Given the description of an element on the screen output the (x, y) to click on. 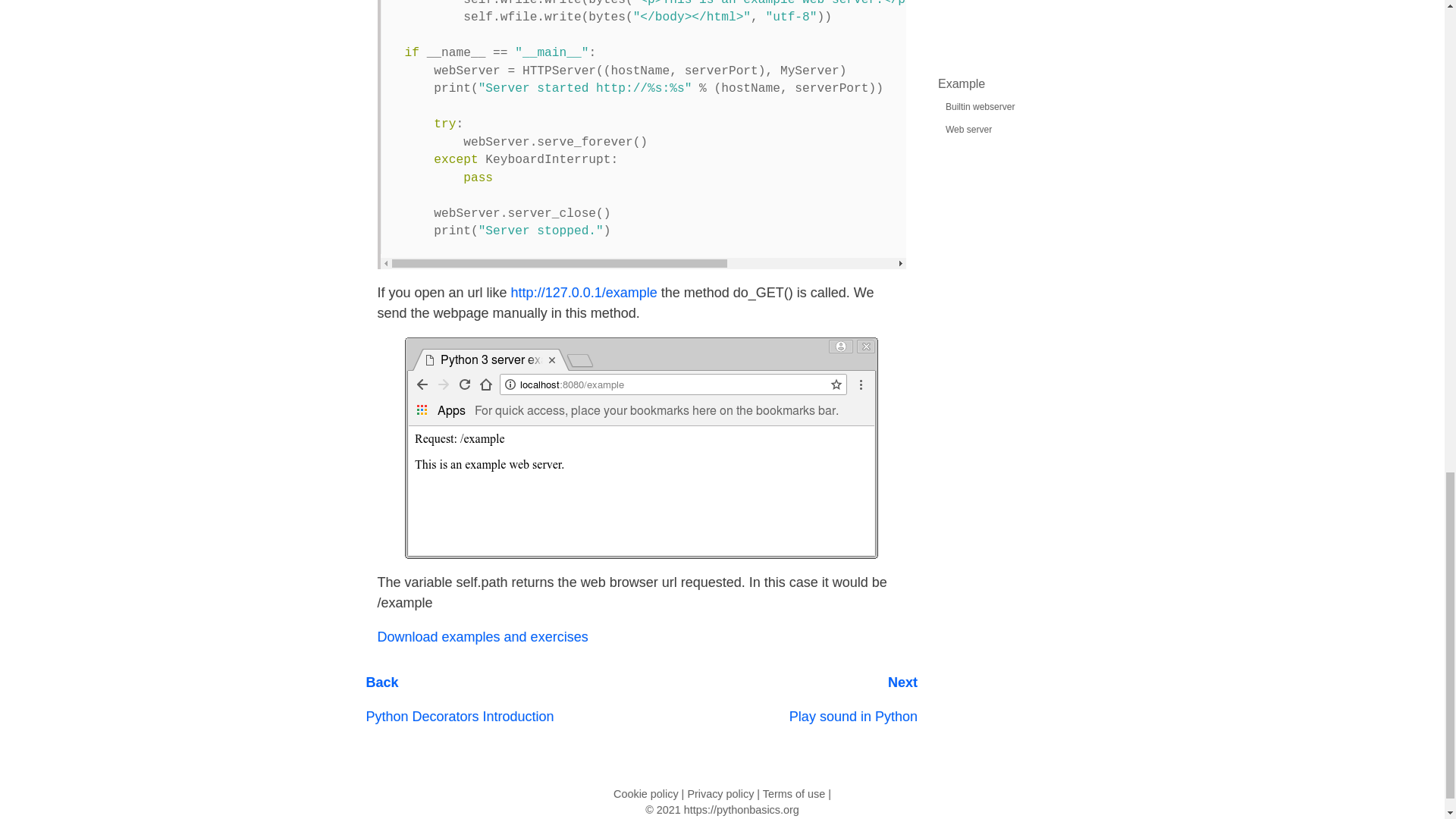
Terms of use (793, 793)
Download examples and exercises (482, 636)
Privacy policy (853, 706)
Cookie policy (459, 706)
